Given the description of an element on the screen output the (x, y) to click on. 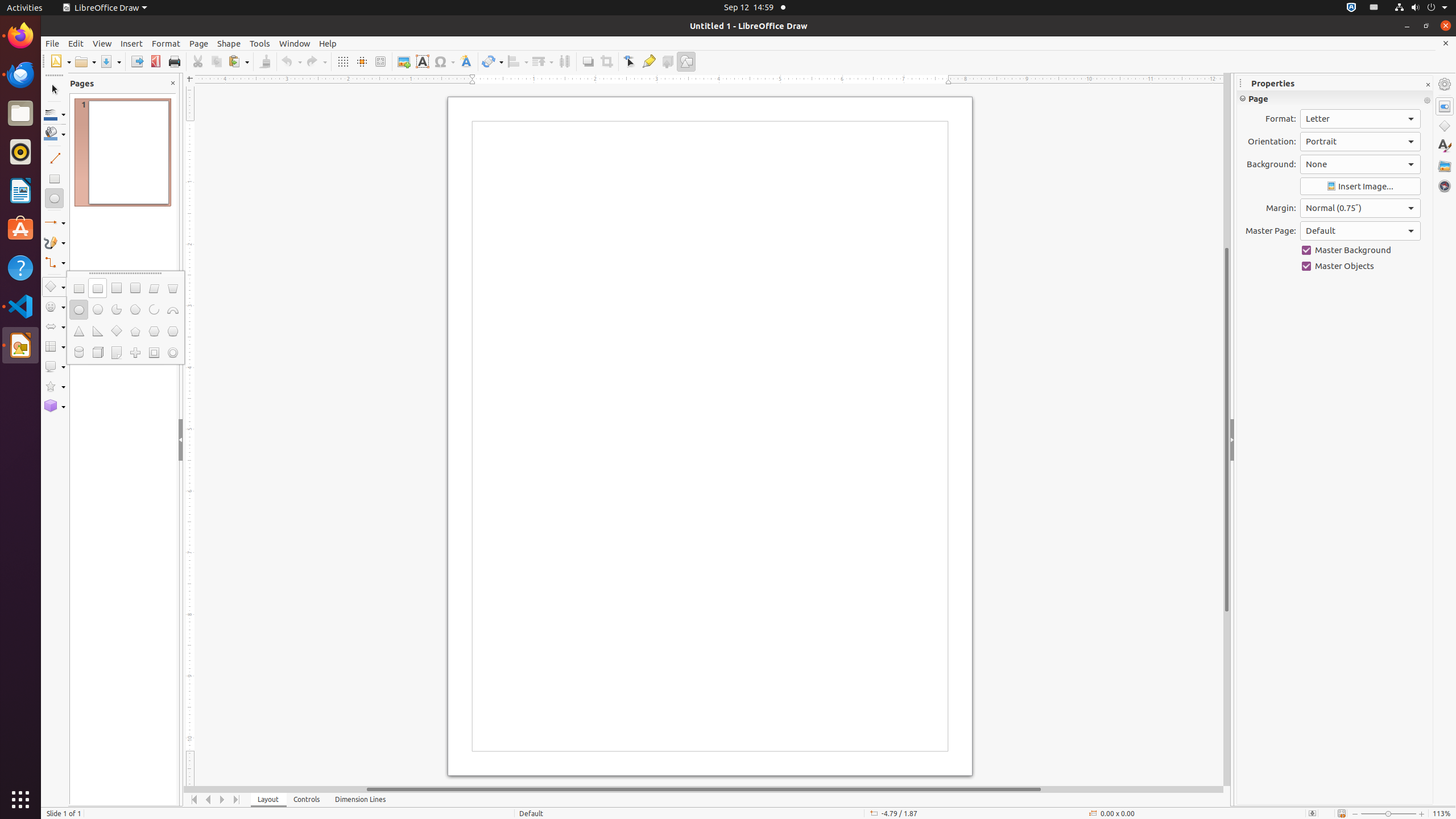
Format Element type: menu (165, 43)
Background: Element type: combo-box (1360, 164)
Align Element type: push-button (517, 61)
Arrange Element type: push-button (542, 61)
Shapes Element type: radio-button (1444, 126)
